Given the description of an element on the screen output the (x, y) to click on. 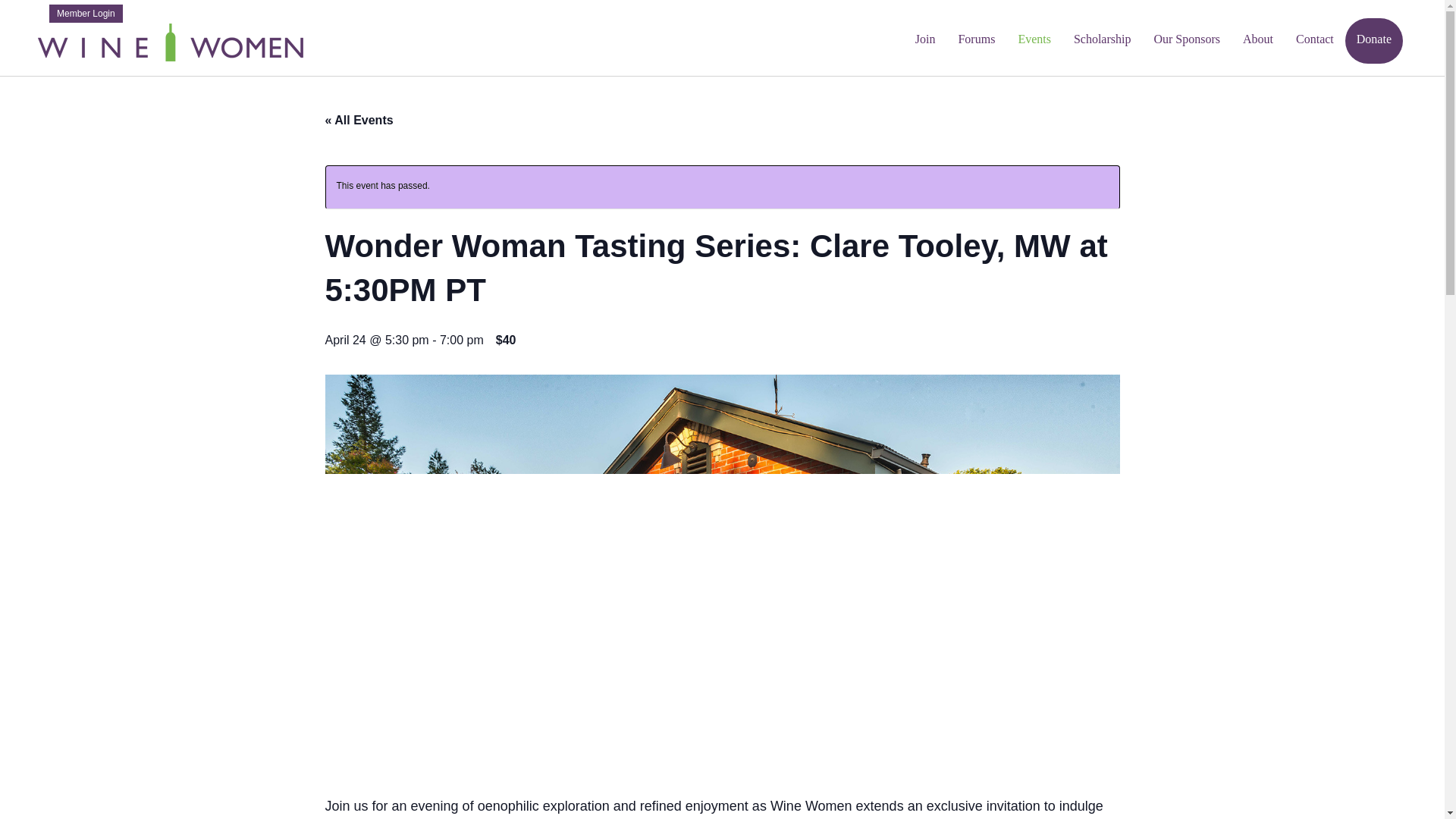
Join (925, 40)
Events (1034, 40)
Our Sponsors (1186, 40)
Member Login (85, 13)
Donate (1374, 40)
Forums (976, 40)
Scholarship (1102, 40)
About (1257, 40)
Contact (1314, 40)
